Given the description of an element on the screen output the (x, y) to click on. 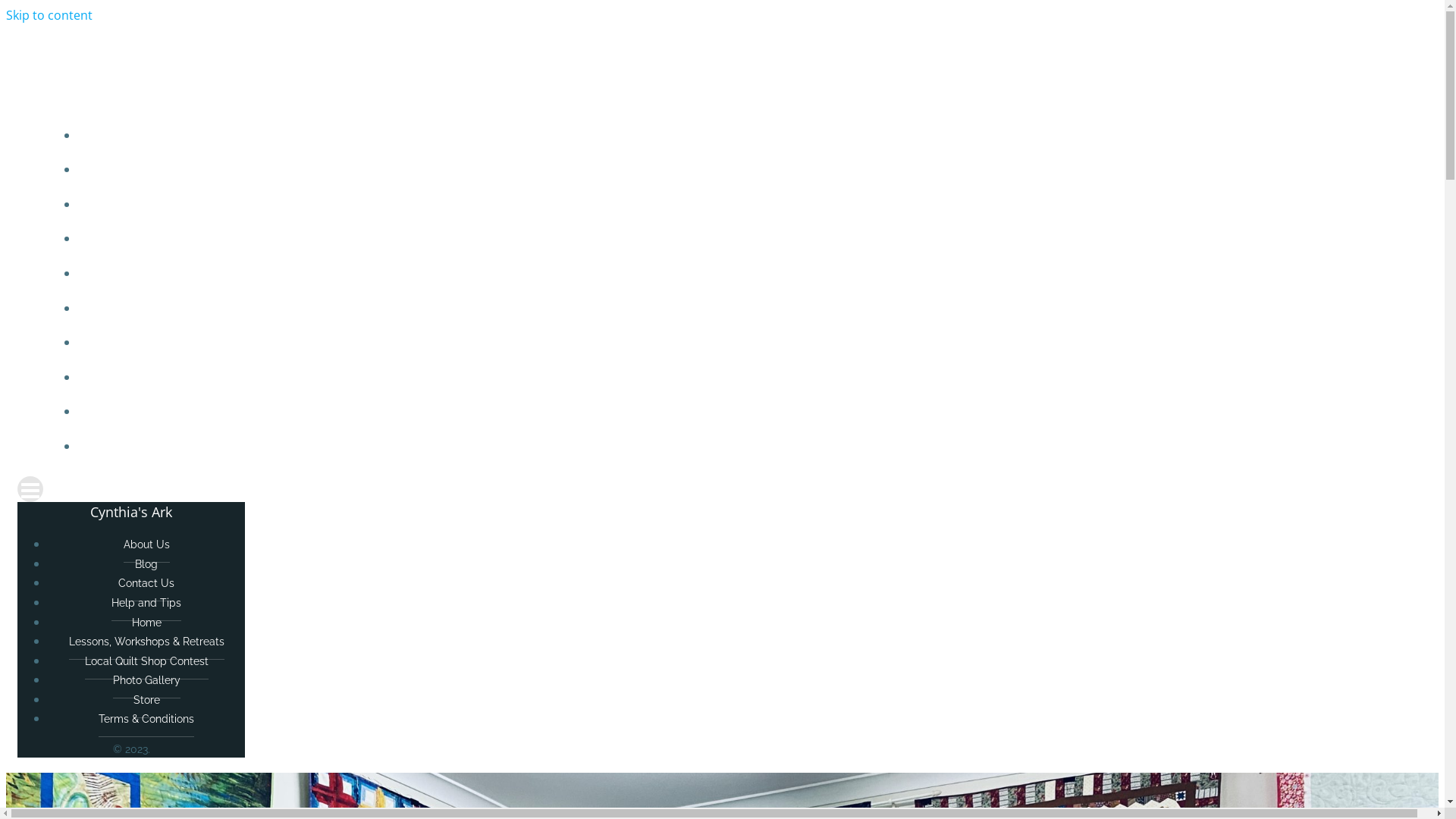
About Us Element type: text (145, 544)
ABOUT US Element type: text (751, 135)
Terms & Conditions Element type: text (146, 719)
Cynthia's Ark Element type: text (722, 53)
STORE Element type: text (752, 411)
LOCAL QUILT SHOP CONTEST Element type: text (752, 342)
HOME Element type: text (752, 273)
BLOG Element type: text (752, 169)
Help and Tips Element type: text (146, 603)
Contact Us Element type: text (146, 583)
Home Element type: text (146, 622)
Store Element type: text (146, 700)
Blog Element type: text (145, 564)
LESSONS, WORKSHOPS & RETREATS Element type: text (752, 308)
Cynthia's Ark Element type: text (131, 511)
Local Quilt Shop Contest Element type: text (146, 661)
Skip to content Element type: text (49, 14)
TERMS & CONDITIONS Element type: text (752, 446)
Lessons, Workshops & Retreats Element type: text (145, 641)
CONTACT US Element type: text (752, 204)
Photo Gallery Element type: text (145, 680)
PHOTO GALLERY Element type: text (752, 377)
Menu Element type: hover (722, 489)
HELP AND TIPS Element type: text (751, 238)
